Given the description of an element on the screen output the (x, y) to click on. 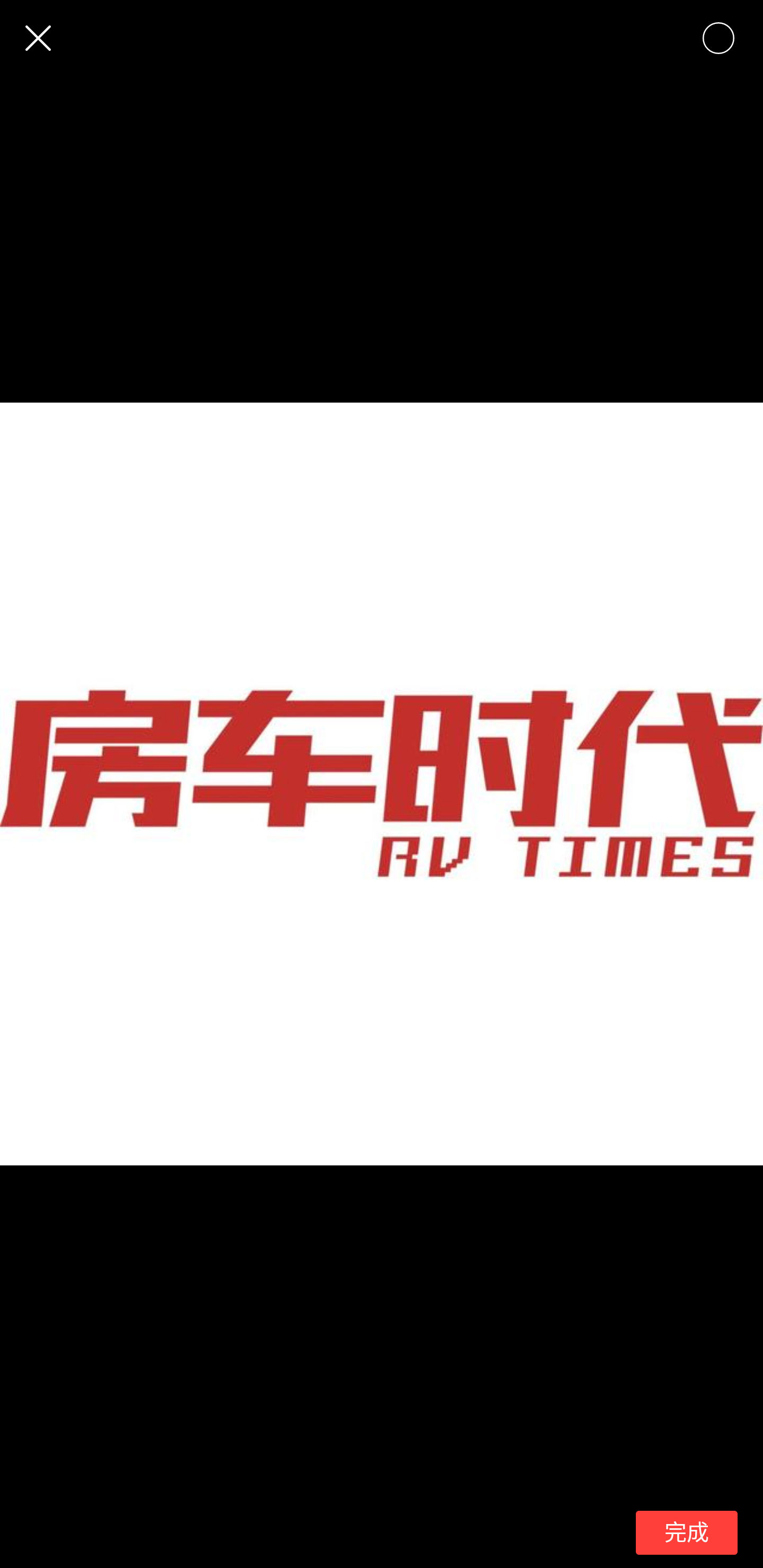
返回 (38, 38)
完成 (686, 1533)
